Given the description of an element on the screen output the (x, y) to click on. 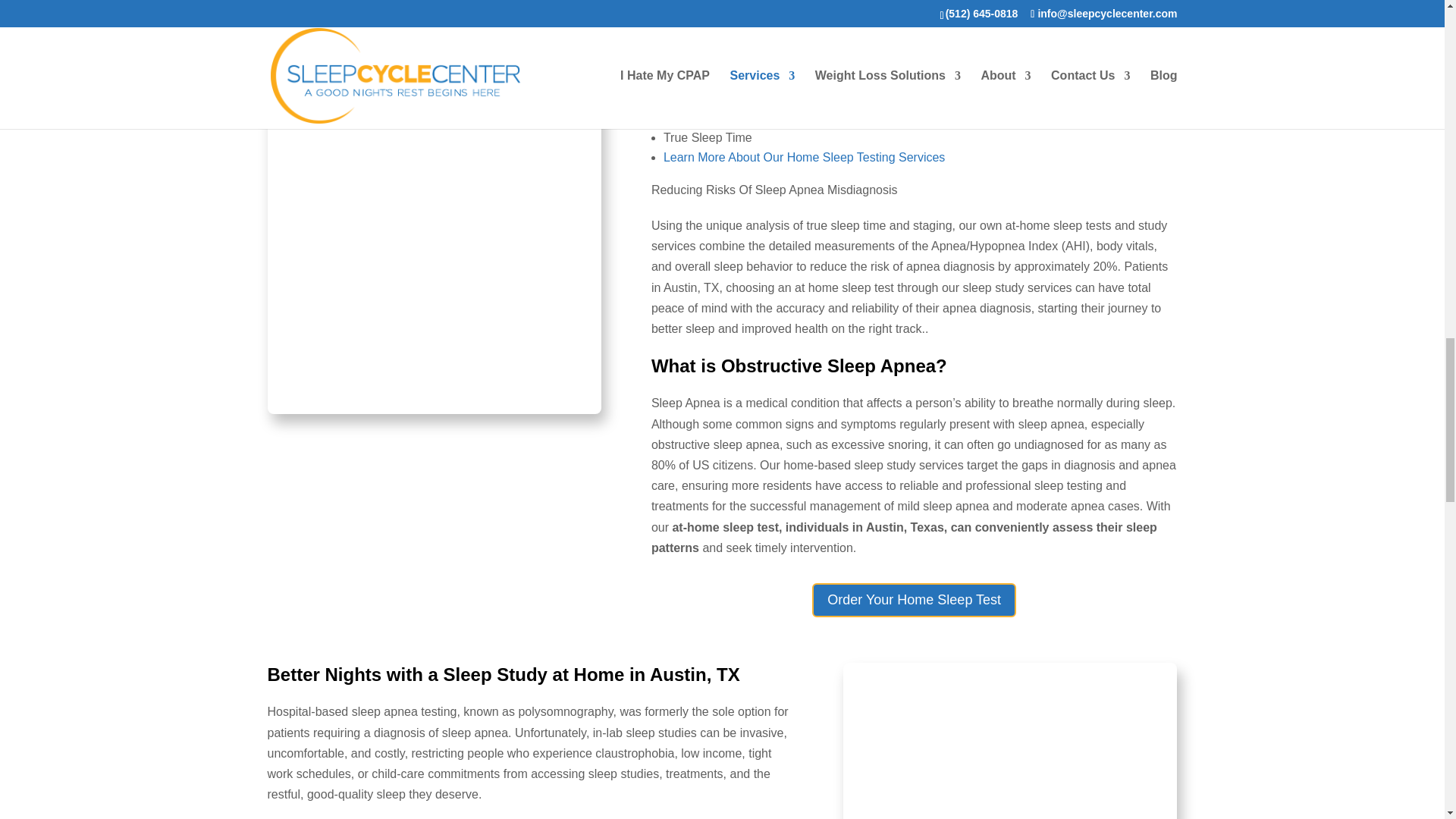
srvc-img (432, 409)
Order Your Home Sleep Test (914, 600)
Learn More About Our Home Sleep Testing Services (803, 156)
